Given the description of an element on the screen output the (x, y) to click on. 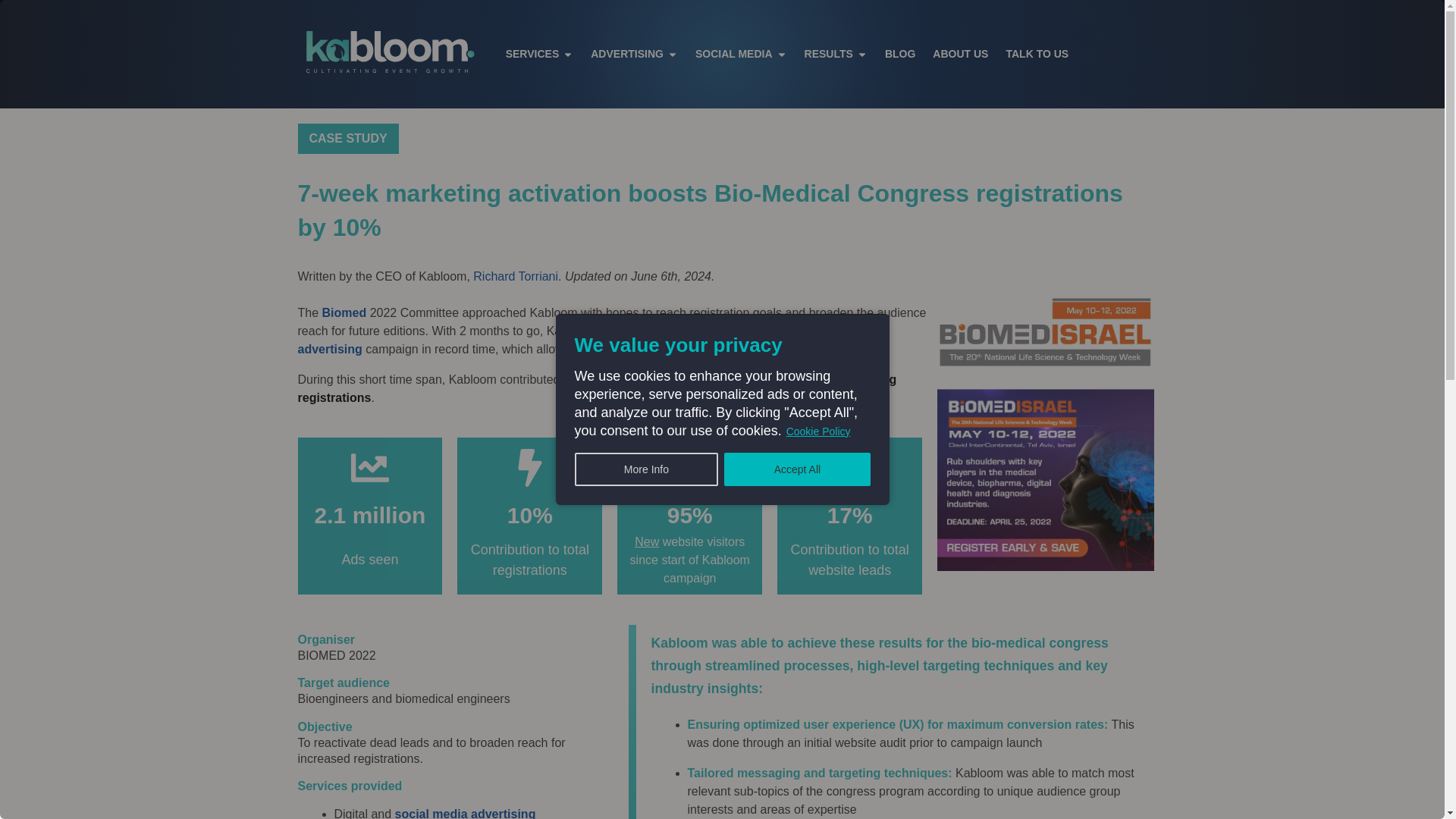
Cookie Policy (818, 431)
Accept All (796, 469)
RESULTS (829, 54)
SOCIAL MEDIA (734, 54)
More Info (647, 469)
ADVERTISING (627, 54)
